Given the description of an element on the screen output the (x, y) to click on. 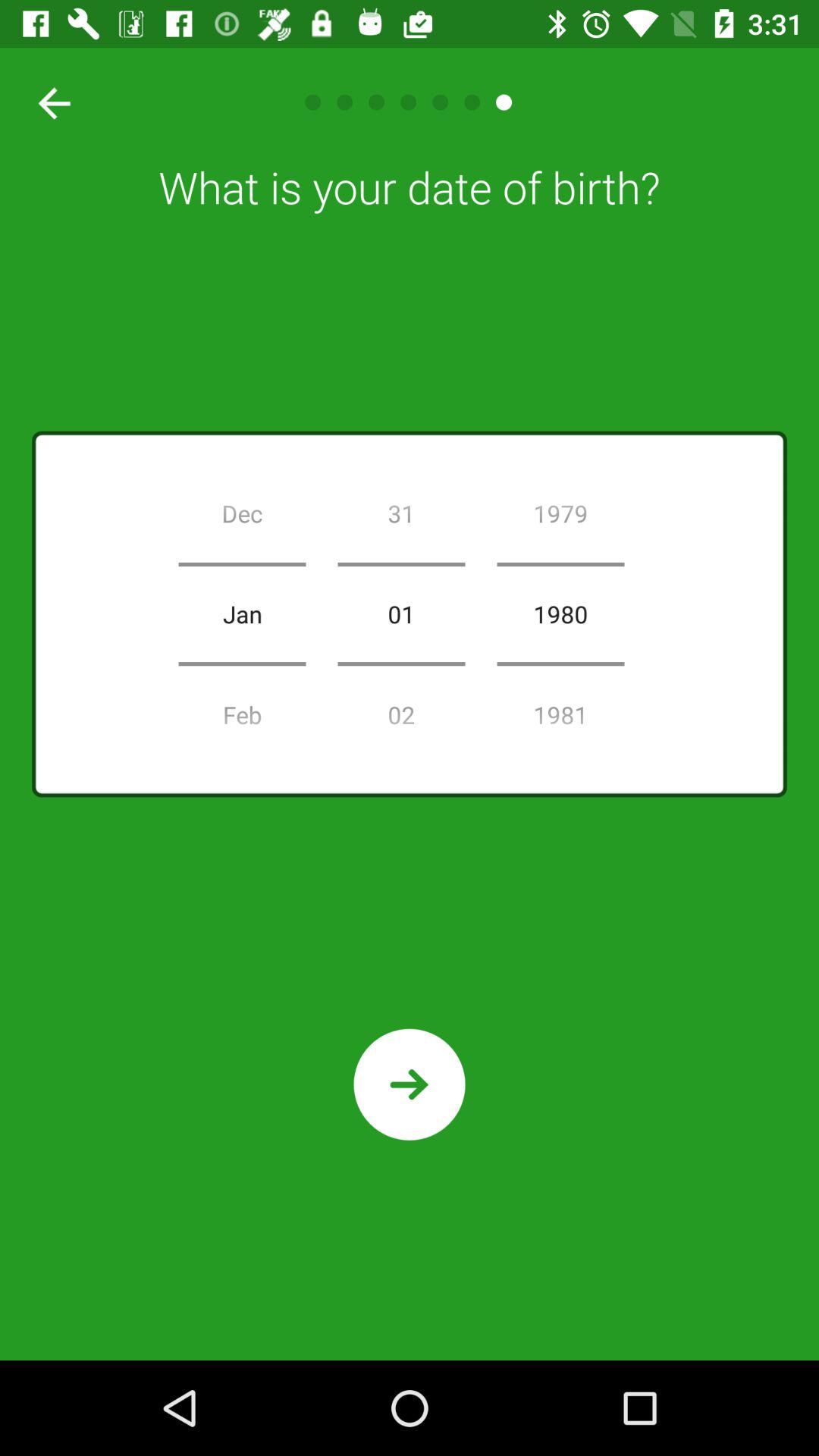
go back (48, 102)
